Given the description of an element on the screen output the (x, y) to click on. 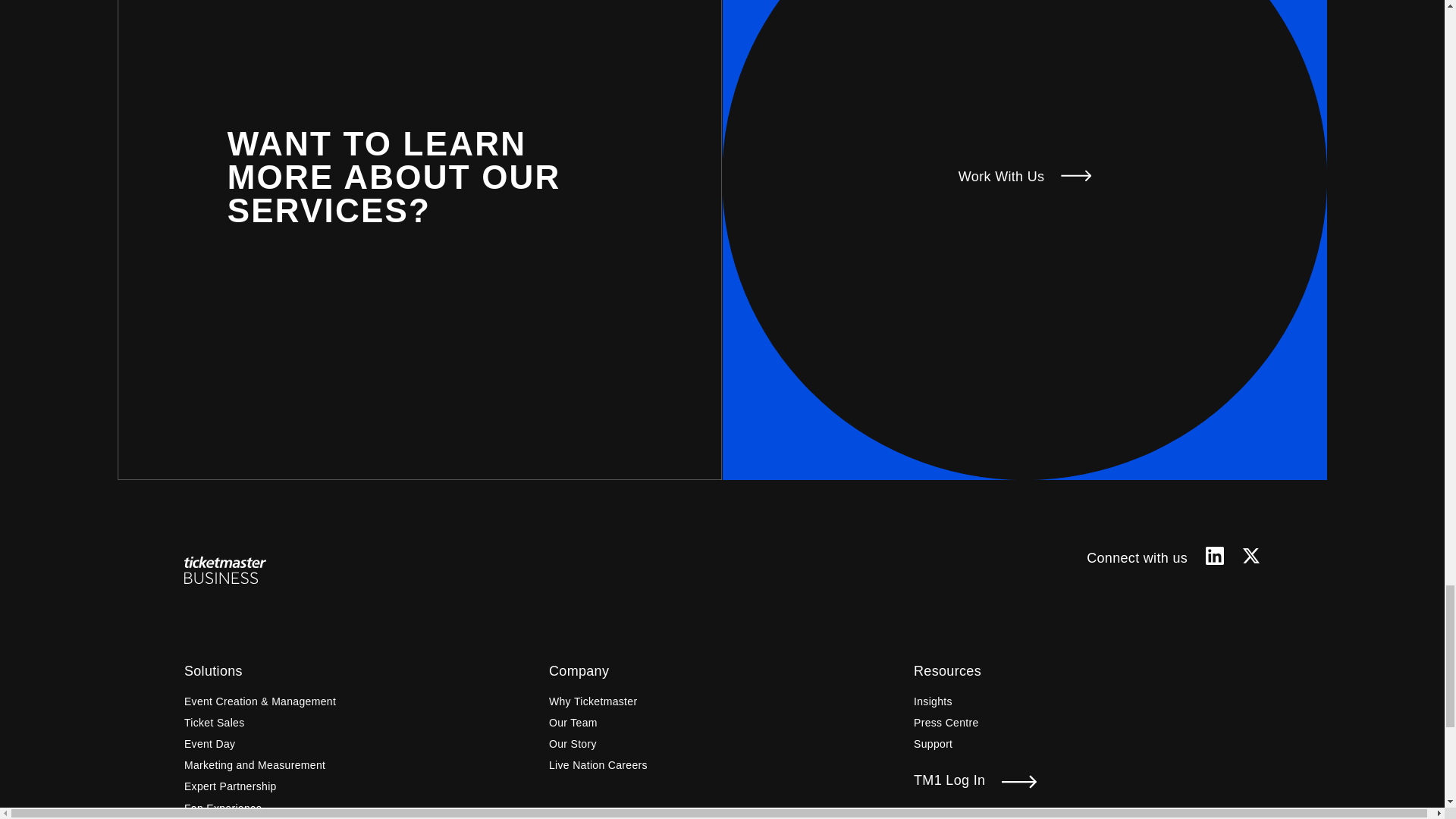
Event Day (209, 743)
Ticket Sales (214, 722)
Marketing and Measurement (254, 765)
